Given the description of an element on the screen output the (x, y) to click on. 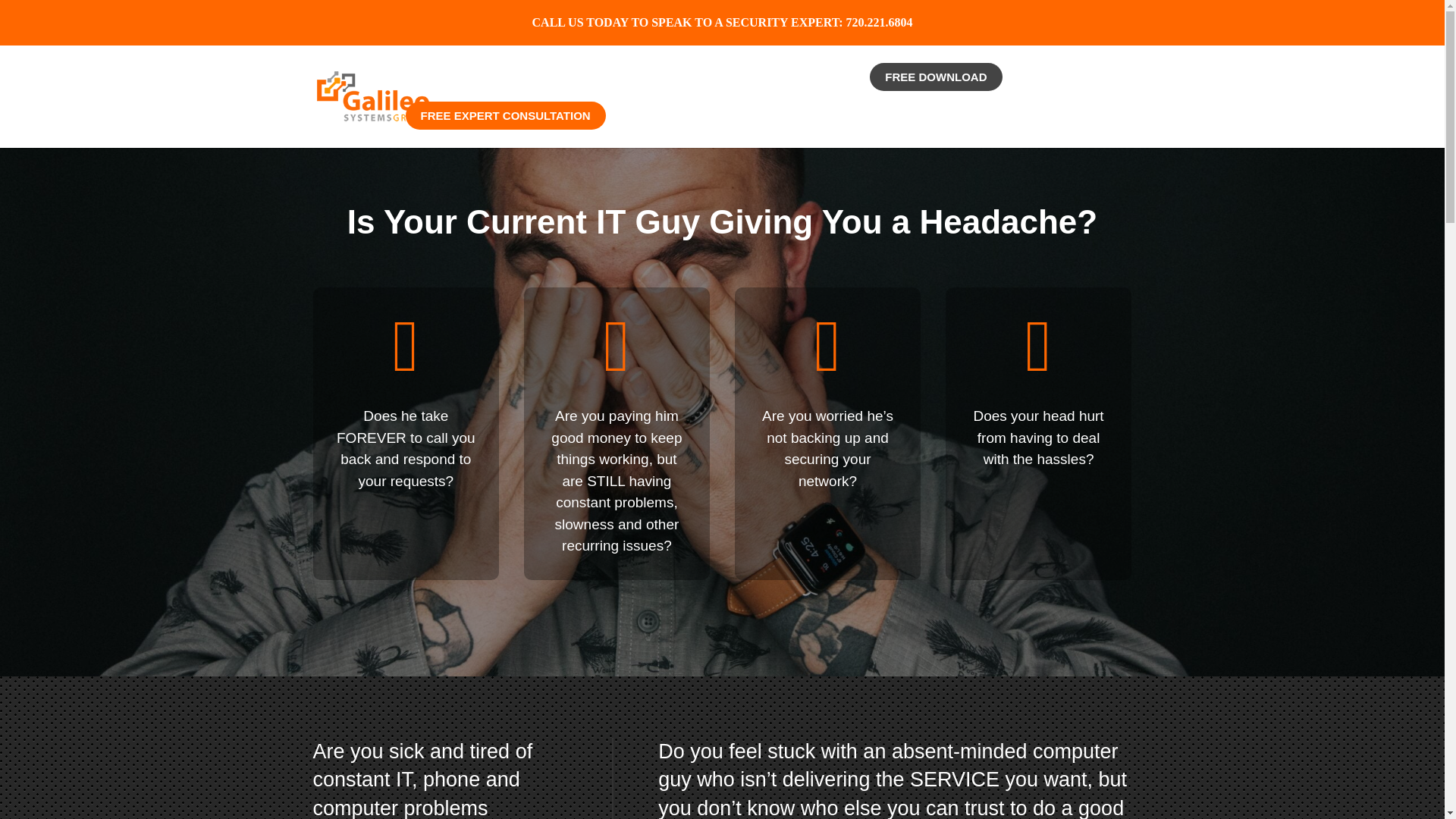
FREE EXPERT CONSULTATION (504, 128)
CONTACT (823, 89)
FREE DOWNLOAD (935, 89)
ABOUT US (580, 89)
SERVICES (494, 89)
HOME (421, 89)
